Given the description of an element on the screen output the (x, y) to click on. 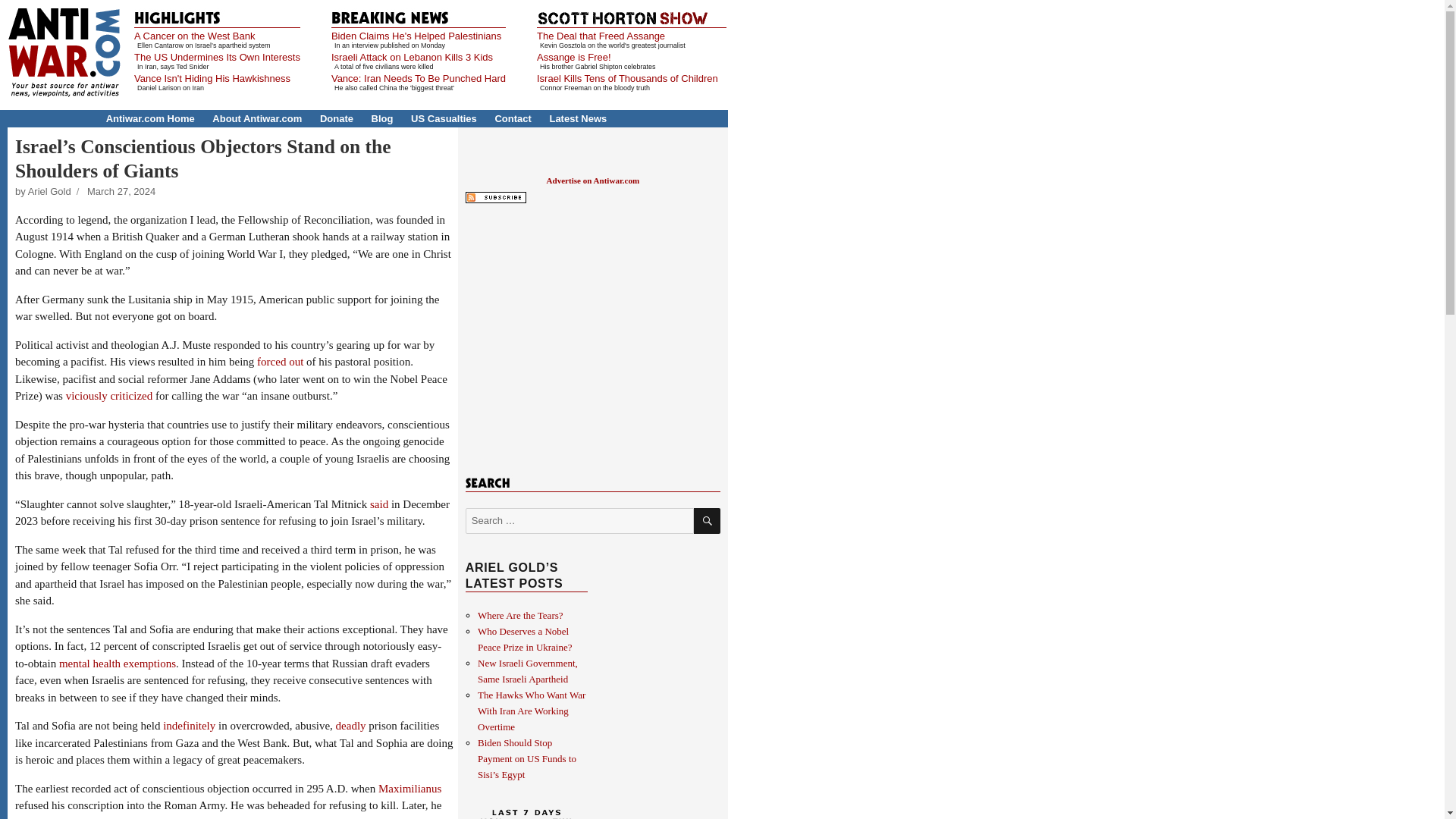
Biden Claims He's Helped Palestinians (415, 35)
said (378, 503)
US Casualties (443, 118)
Latest News (577, 118)
Ariel Gold (49, 191)
This external link will open in a new window (378, 503)
indefinitely (189, 725)
deadly (351, 725)
The US Undermines Its Own Interests (216, 57)
This external link will open in a new window (351, 725)
March 27, 2024 (121, 191)
viciously criticized (108, 395)
Posts by Ariel Gold (49, 191)
This external link will open in a new window (117, 663)
Assange is Free! (574, 57)
